Given the description of an element on the screen output the (x, y) to click on. 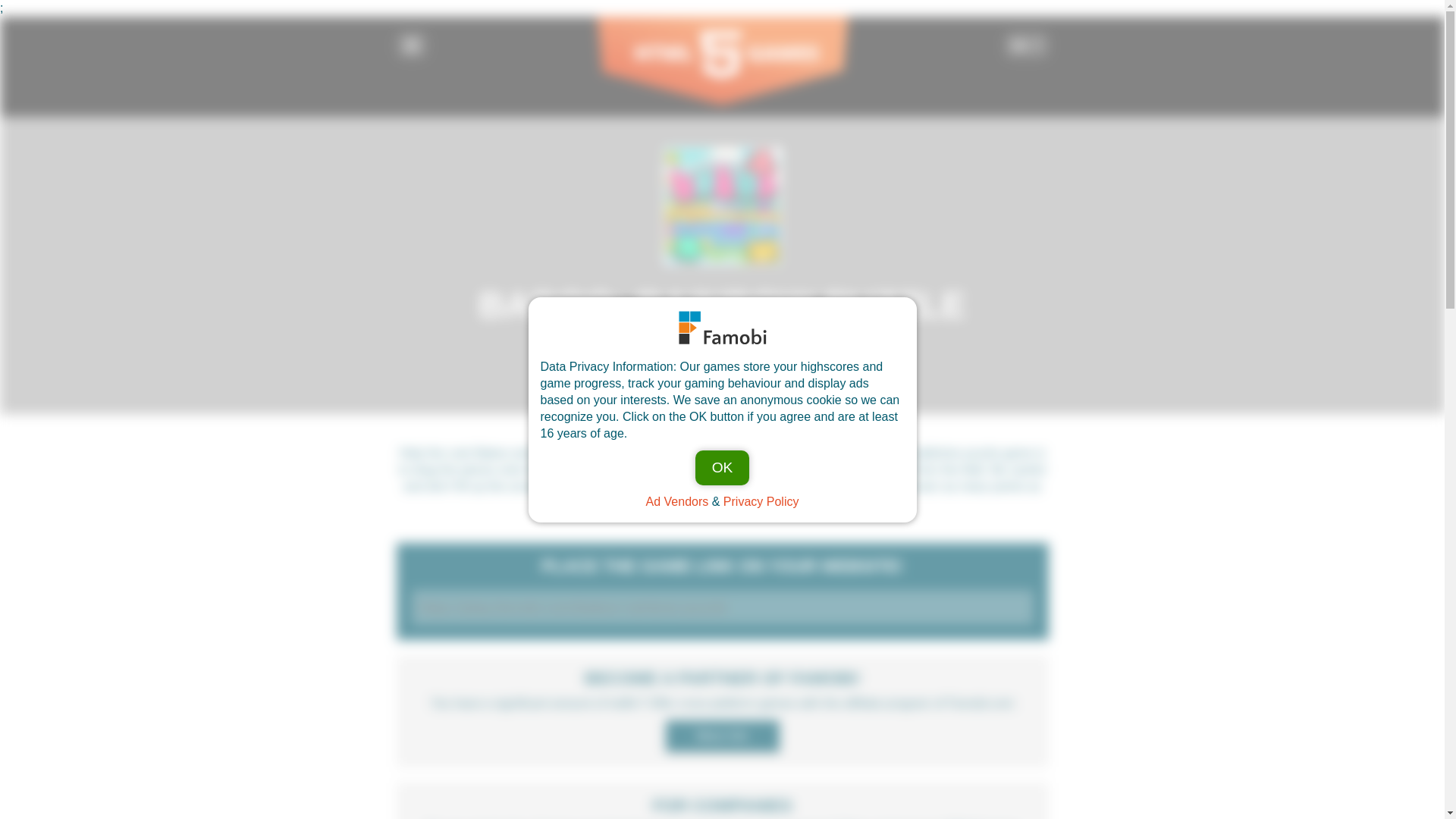
Play (721, 364)
Ad Vendors (677, 500)
OK (722, 467)
on (418, 51)
More Info (721, 736)
Privacy Policy (761, 500)
